Given the description of an element on the screen output the (x, y) to click on. 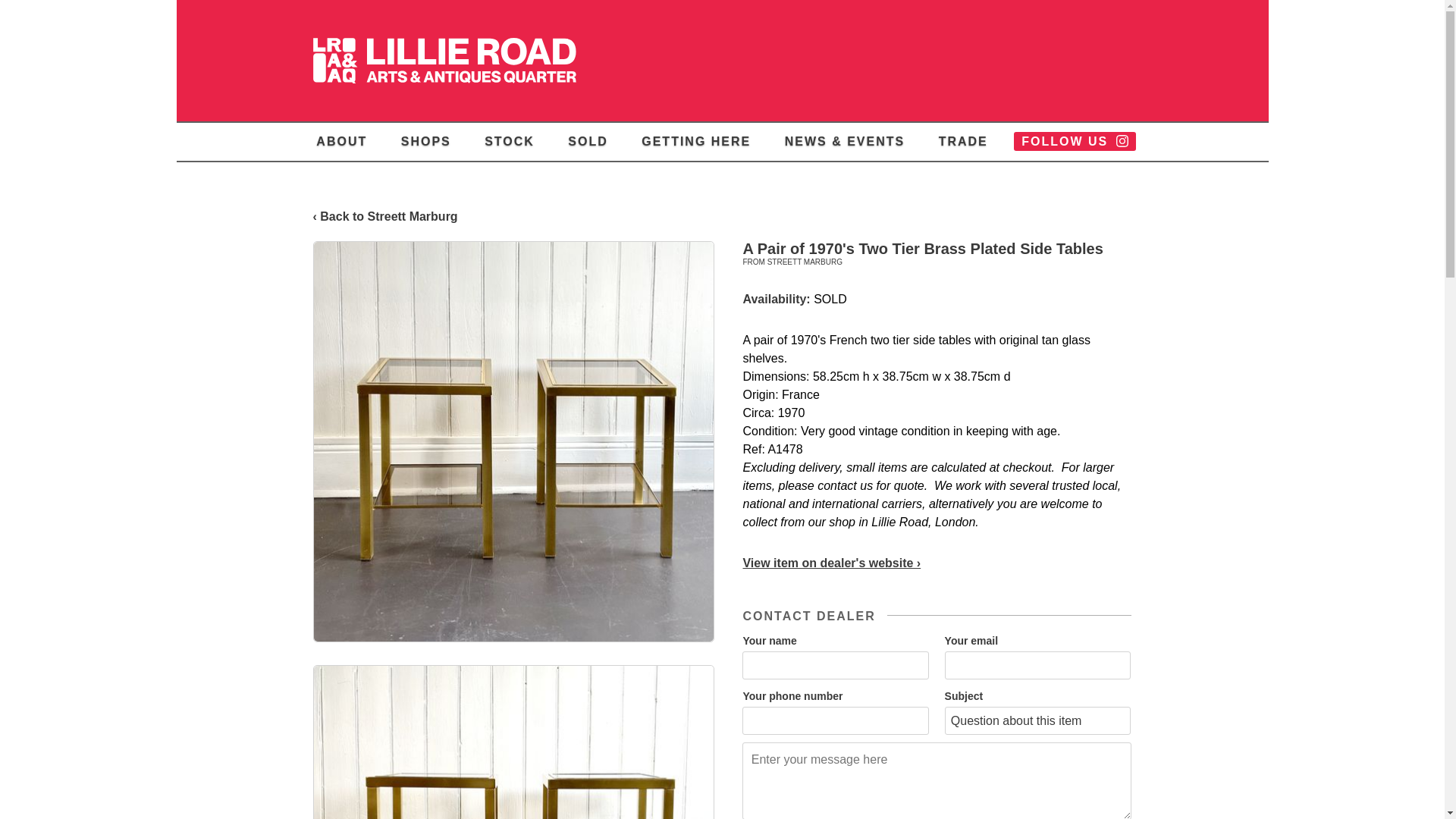
SOLD (587, 140)
SHOPS (425, 140)
FOLLOW US (1074, 140)
TRADE (963, 140)
Question about this item (1037, 720)
GETTING HERE (695, 140)
ABOUT (341, 140)
STOCK (509, 140)
